Given the description of an element on the screen output the (x, y) to click on. 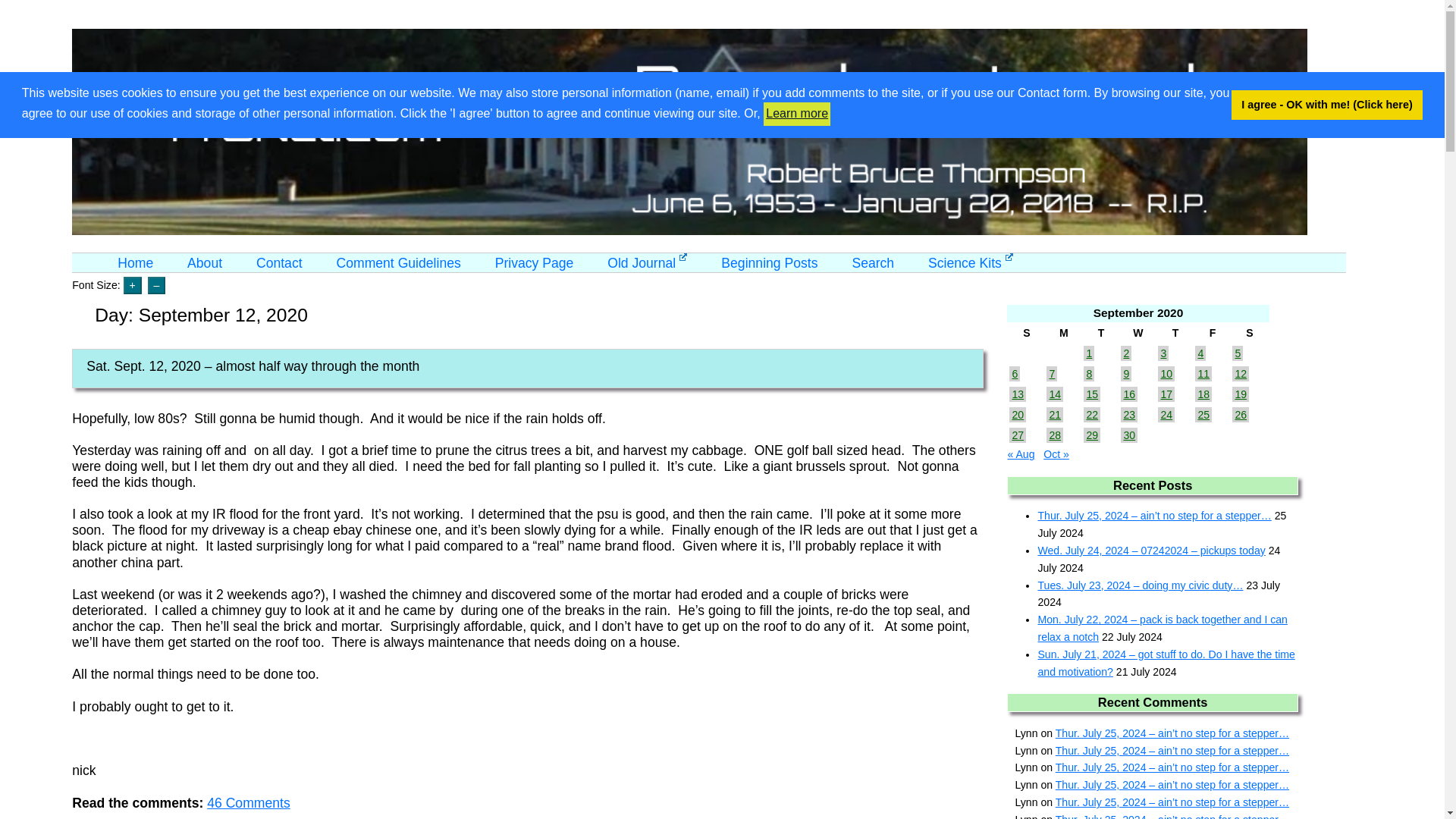
11 (1203, 373)
Privacy Page (534, 263)
Increase font size (132, 284)
Beginning Posts (768, 263)
46 Comments (247, 802)
14 (1054, 394)
Old Journal (647, 263)
Science Kits (970, 263)
Learn more (795, 113)
Search (872, 263)
17 (1165, 394)
Home (134, 263)
23 (1129, 414)
22 (1091, 414)
About (204, 263)
